Given the description of an element on the screen output the (x, y) to click on. 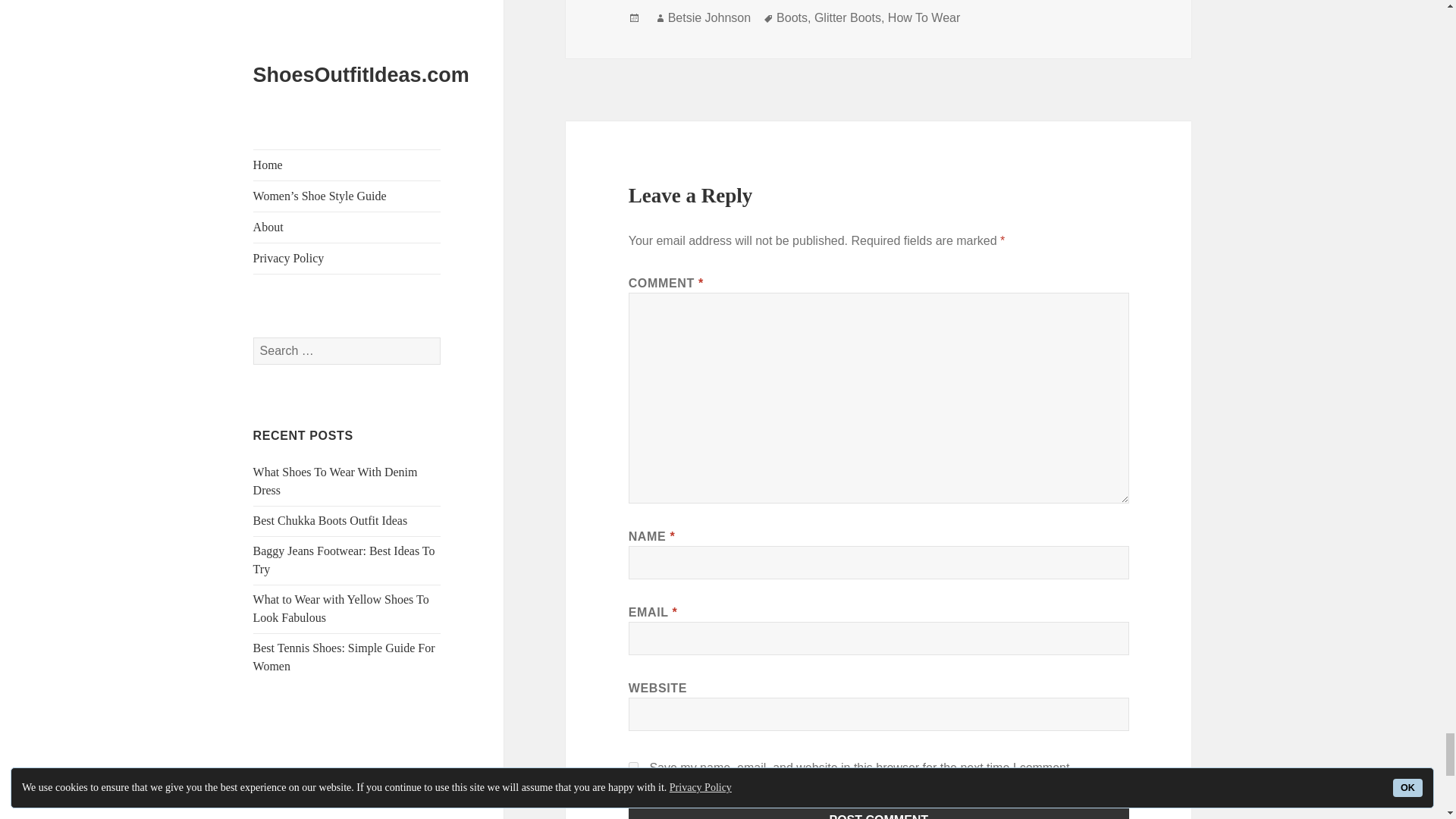
Post Comment (878, 811)
yes (633, 767)
